Given the description of an element on the screen output the (x, y) to click on. 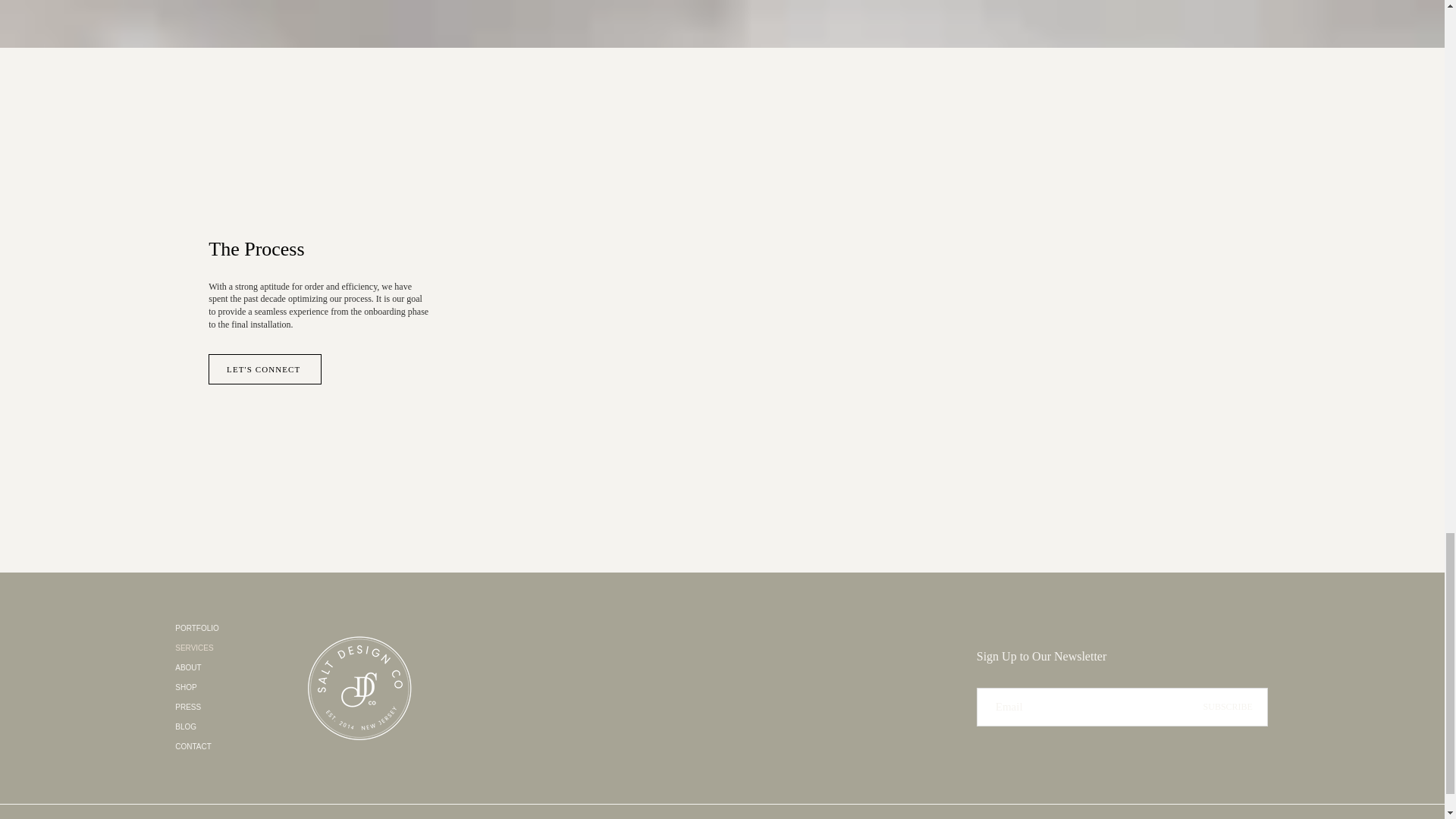
PORTFOLIO (217, 628)
PRESS (217, 707)
SHOP (217, 687)
LET'S CONNECT (264, 368)
SUBSCRIBE (1228, 706)
CONTACT (217, 746)
SERVICES (217, 648)
ABOUT (217, 668)
BLOG (217, 727)
